Given the description of an element on the screen output the (x, y) to click on. 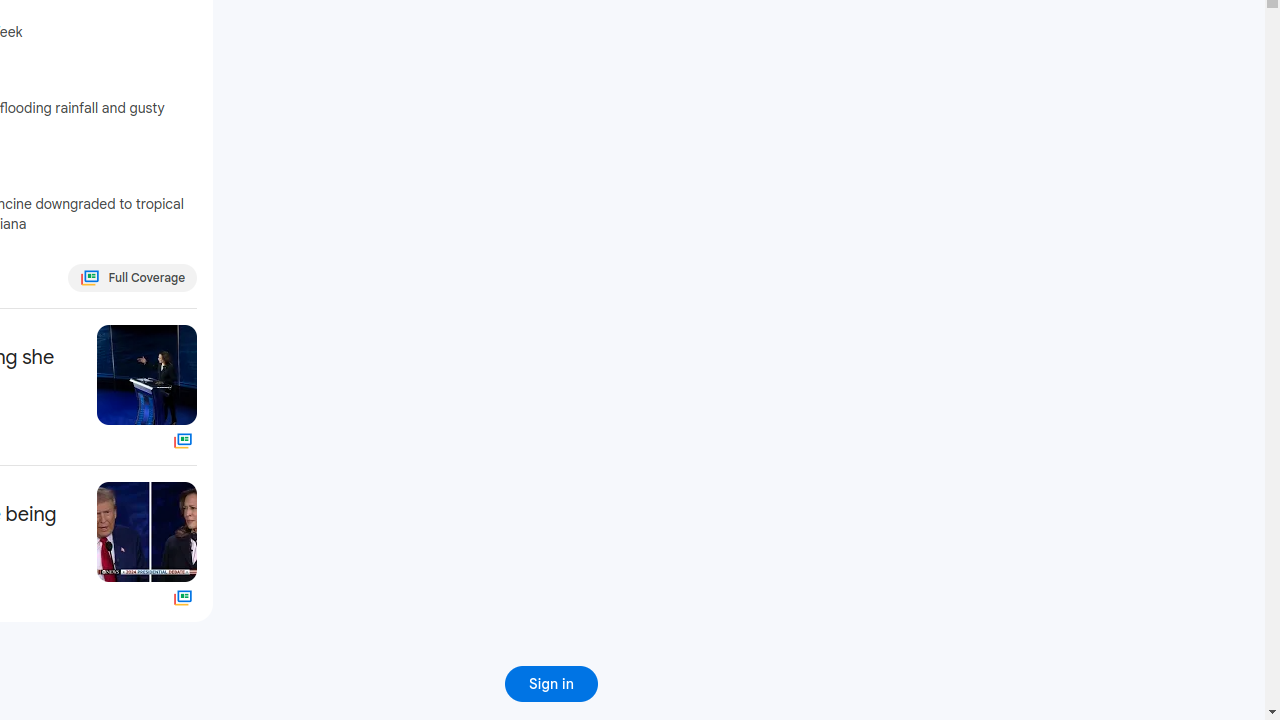
More - Simpsons memes go viral after Trump claims that ‘dogs are being eaten in Springfield’ Element type: push-button (75, 490)
More - Trump refuses to commit to 2nd debate with Harris -- saying she wants to because she lost Element type: push-button (75, 334)
Sign in Element type: link (552, 684)
More - Tropical Storm Francine unleashes flooding rainfall and gusty winds as it drives into Louisiana Element type: push-button (191, 87)
Full Coverage Element type: link (183, 598)
